Given the description of an element on the screen output the (x, y) to click on. 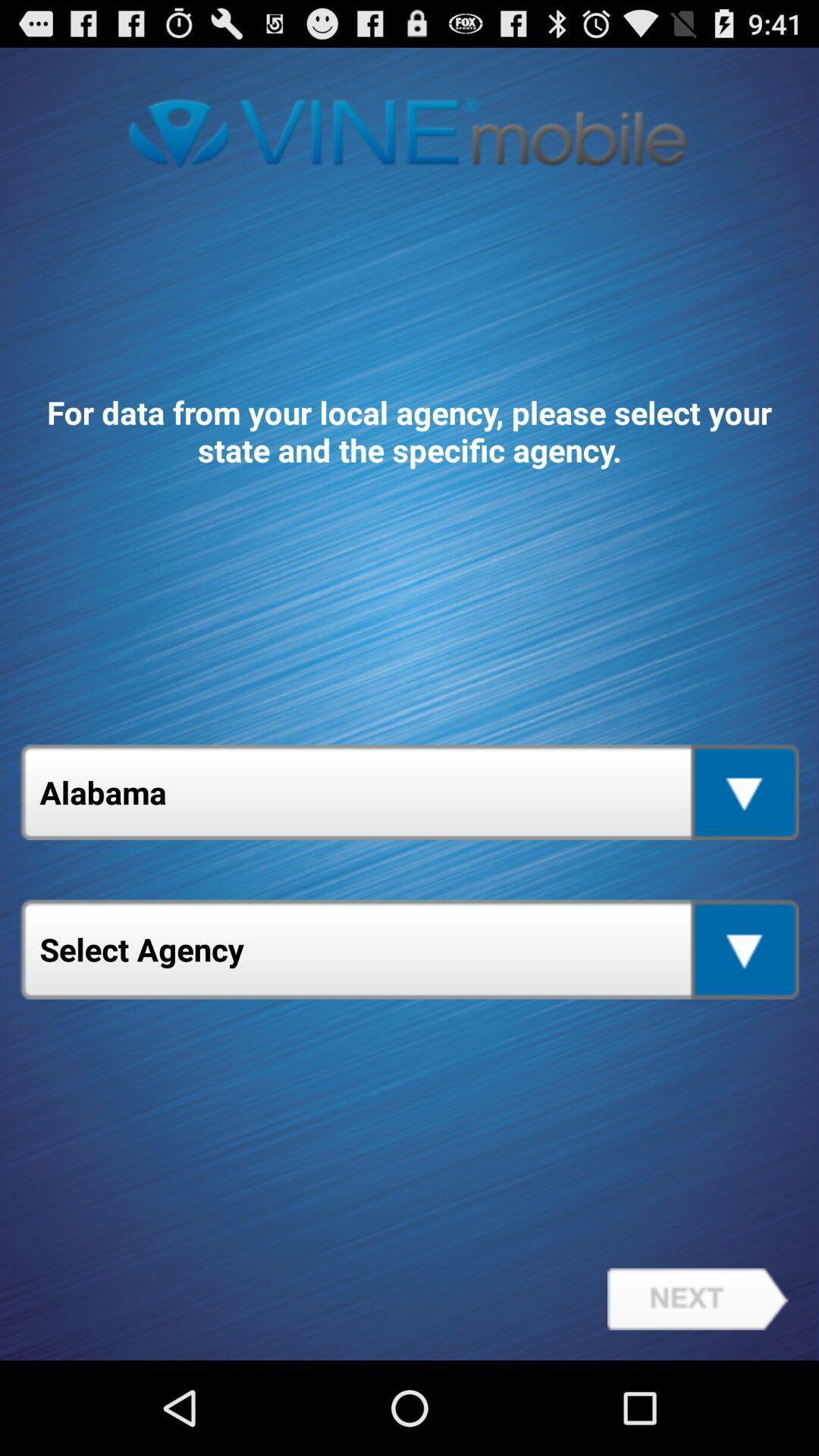
turn off the item at the bottom right corner (697, 1299)
